Given the description of an element on the screen output the (x, y) to click on. 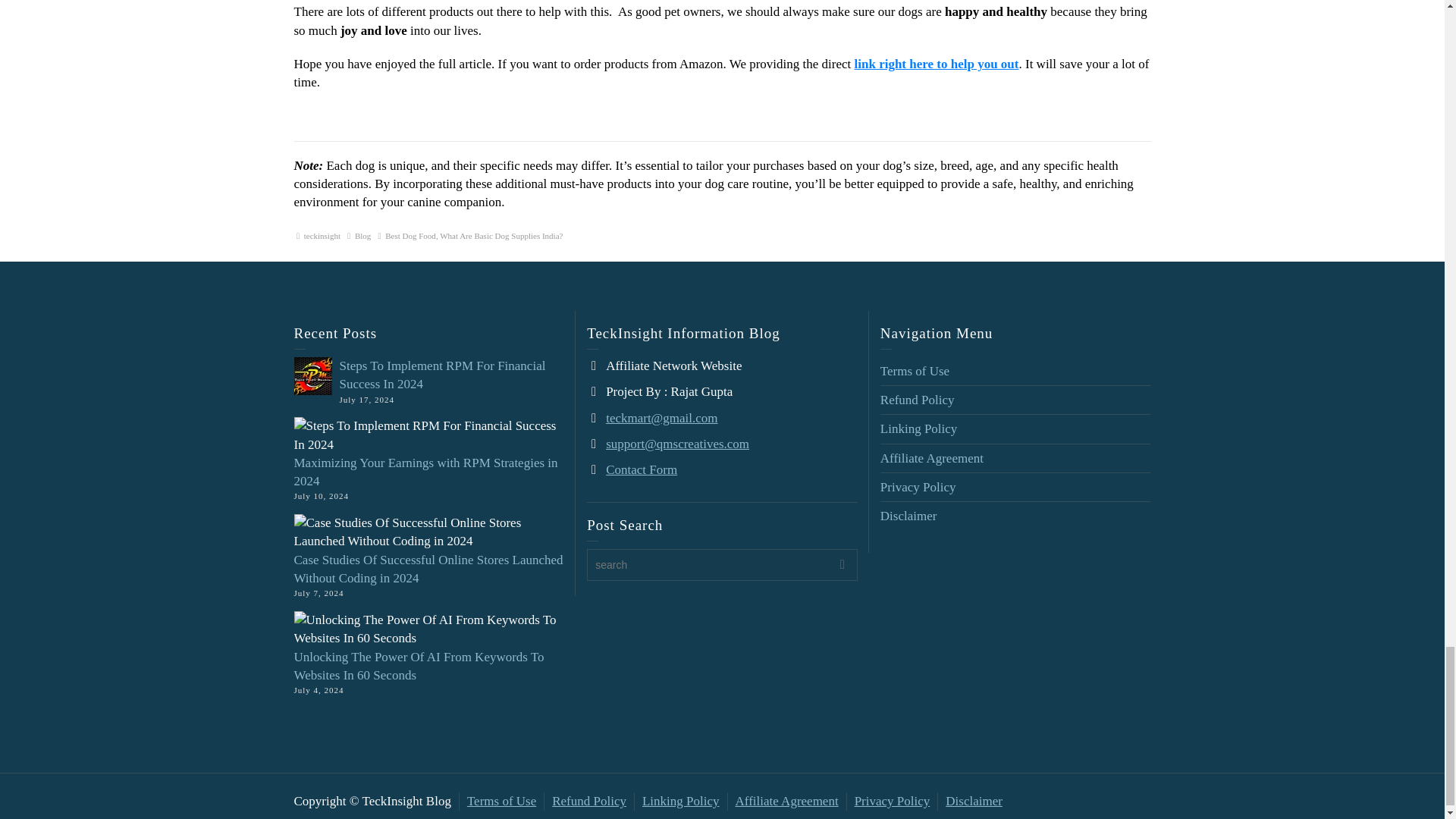
Steps To Implement RPM For Financial Success In 2024 (442, 374)
Maximizing Your Earnings with RPM Strategies in 2024 (425, 471)
teckinsight (322, 235)
Steps To Implement RPM For Financial Success In 2024 (442, 374)
Contact Form (641, 469)
link right here to help you out (936, 63)
What Are Basic Dog Supplies India? (500, 235)
Maximizing Your Earnings with RPM Strategies in 2024 (425, 471)
Best Dog Food (410, 235)
Posts by teckinsight (322, 235)
Blog (363, 235)
